Given the description of an element on the screen output the (x, y) to click on. 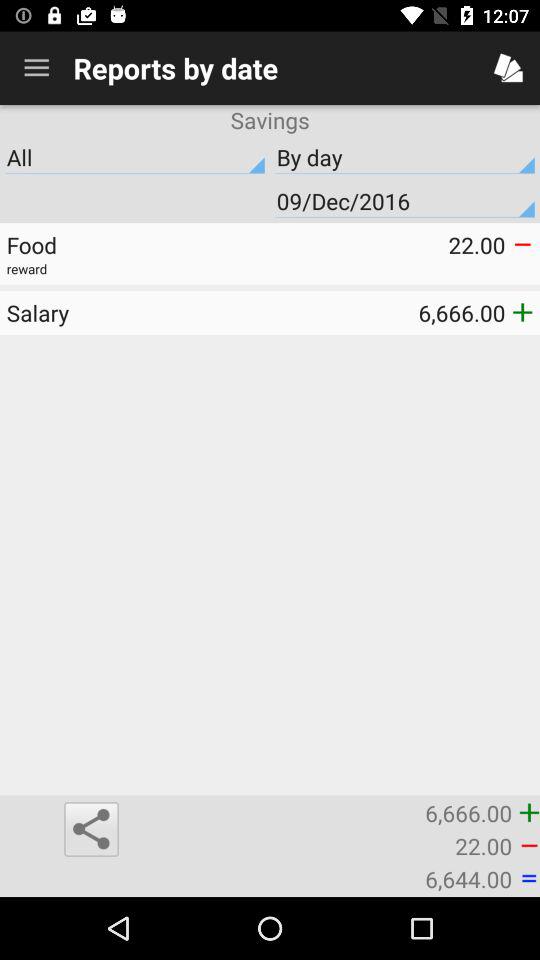
share report (91, 829)
